Given the description of an element on the screen output the (x, y) to click on. 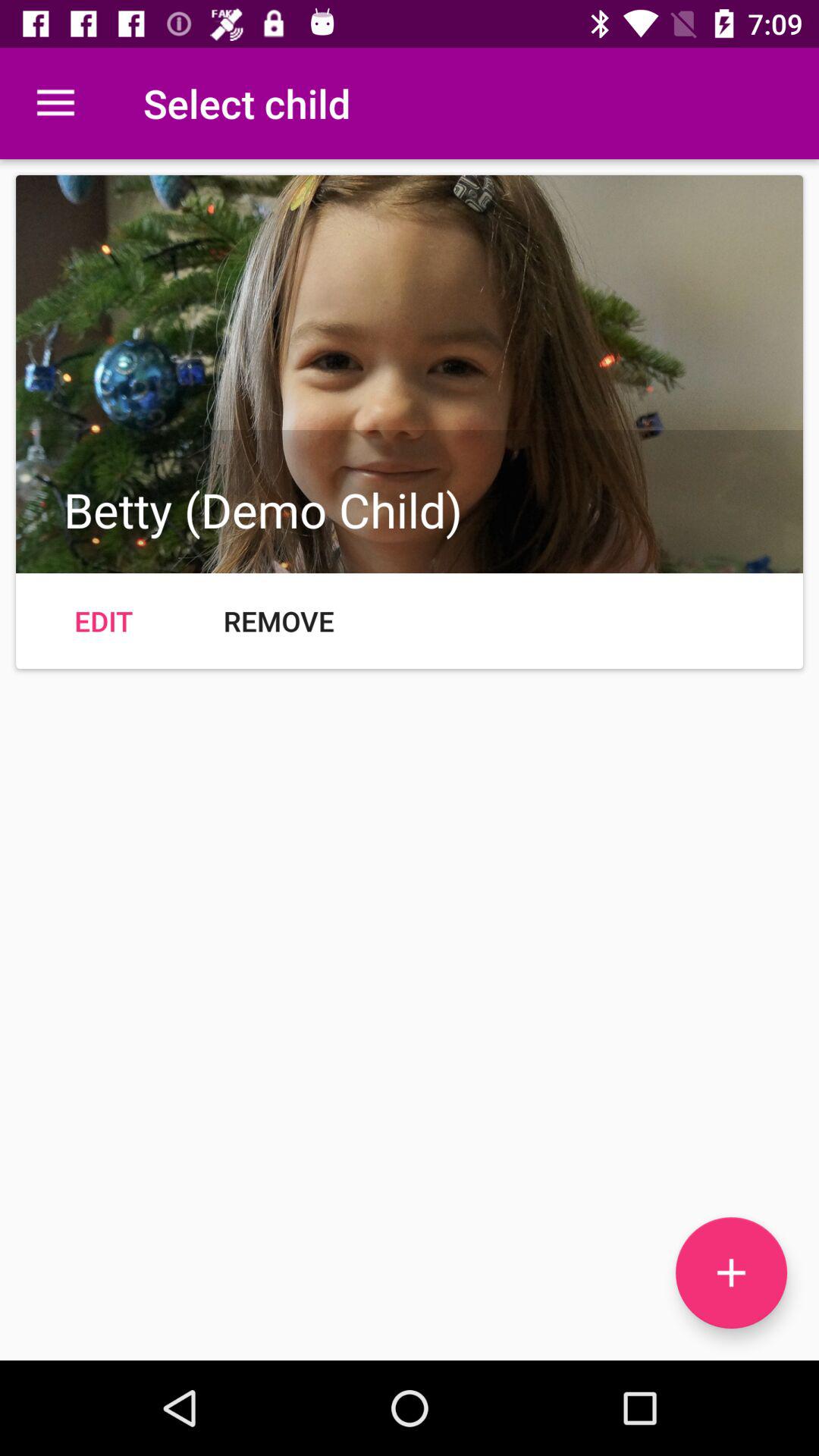
add photo option (731, 1272)
